Given the description of an element on the screen output the (x, y) to click on. 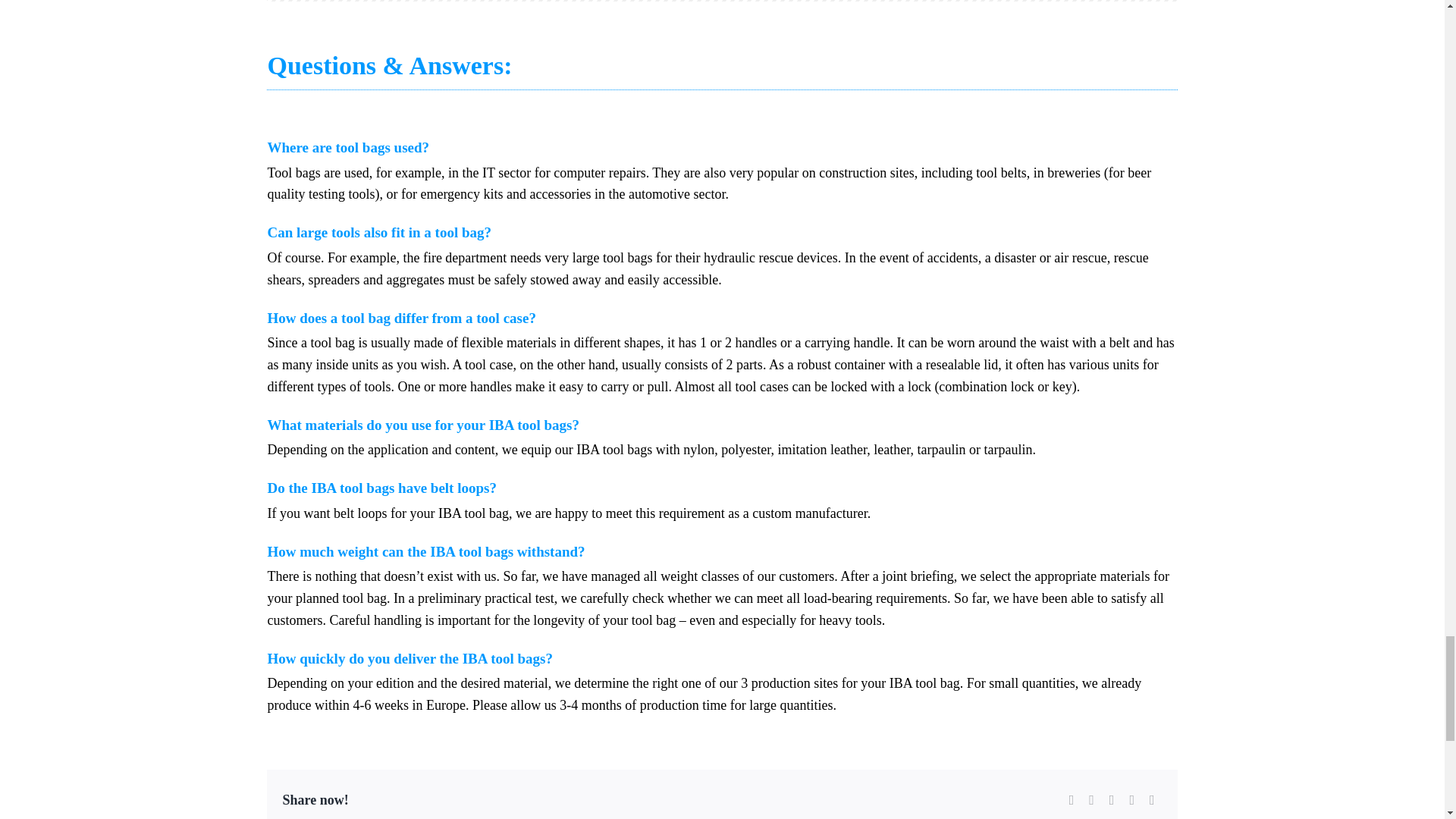
LinkedIn (1091, 800)
Email (1151, 800)
Xing (1131, 800)
Facebook (1071, 800)
WhatsApp (1112, 800)
